Given the description of an element on the screen output the (x, y) to click on. 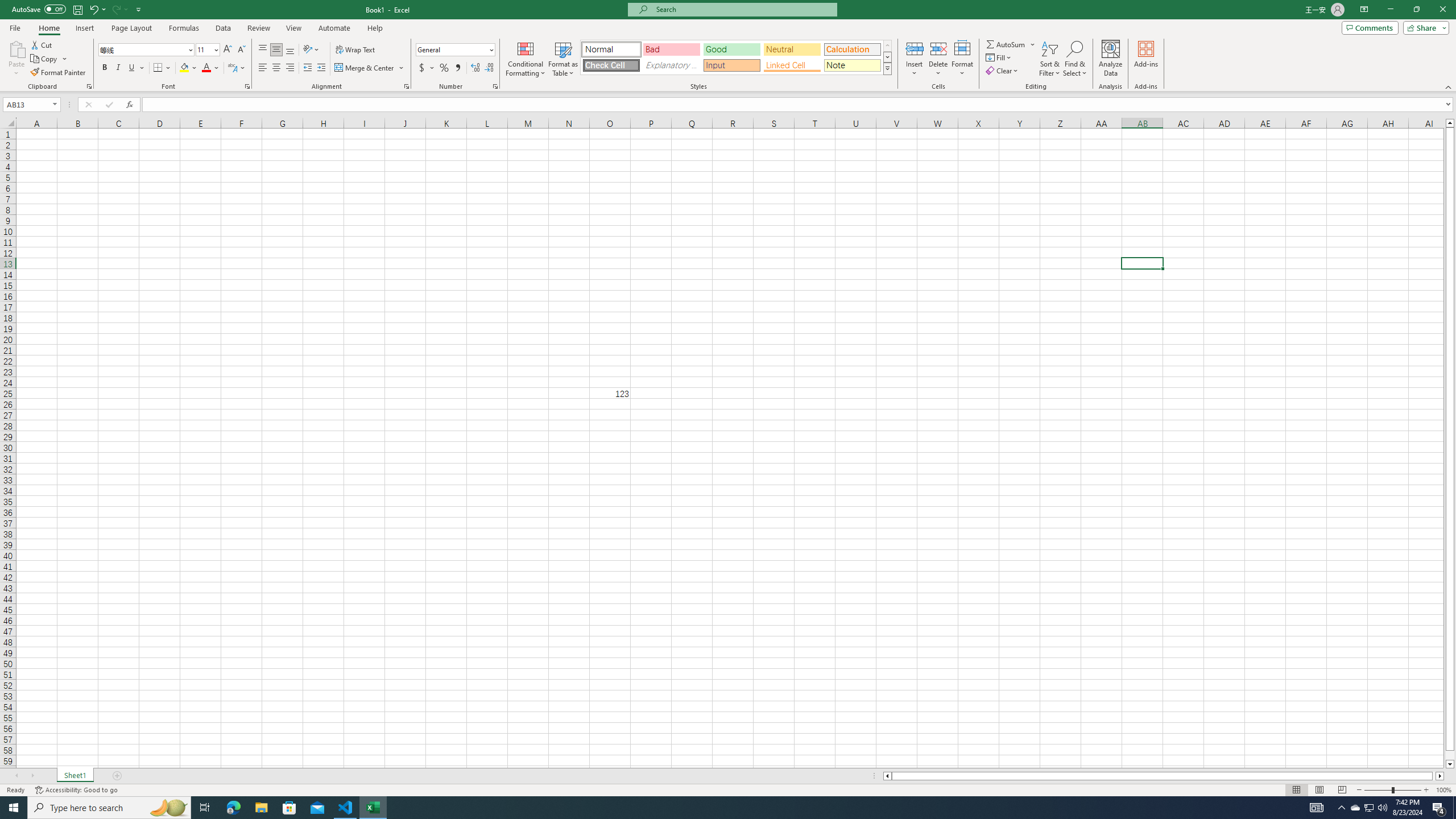
Font Size (204, 49)
Show Phonetic Field (231, 67)
Decrease Font Size (240, 49)
Fill Color RGB(255, 255, 0) (183, 67)
Column left (886, 775)
Close (1442, 9)
Calculation (852, 49)
Font (142, 49)
Format Cell Number (494, 85)
Note (852, 65)
Show Phonetic Field (236, 67)
